Given the description of an element on the screen output the (x, y) to click on. 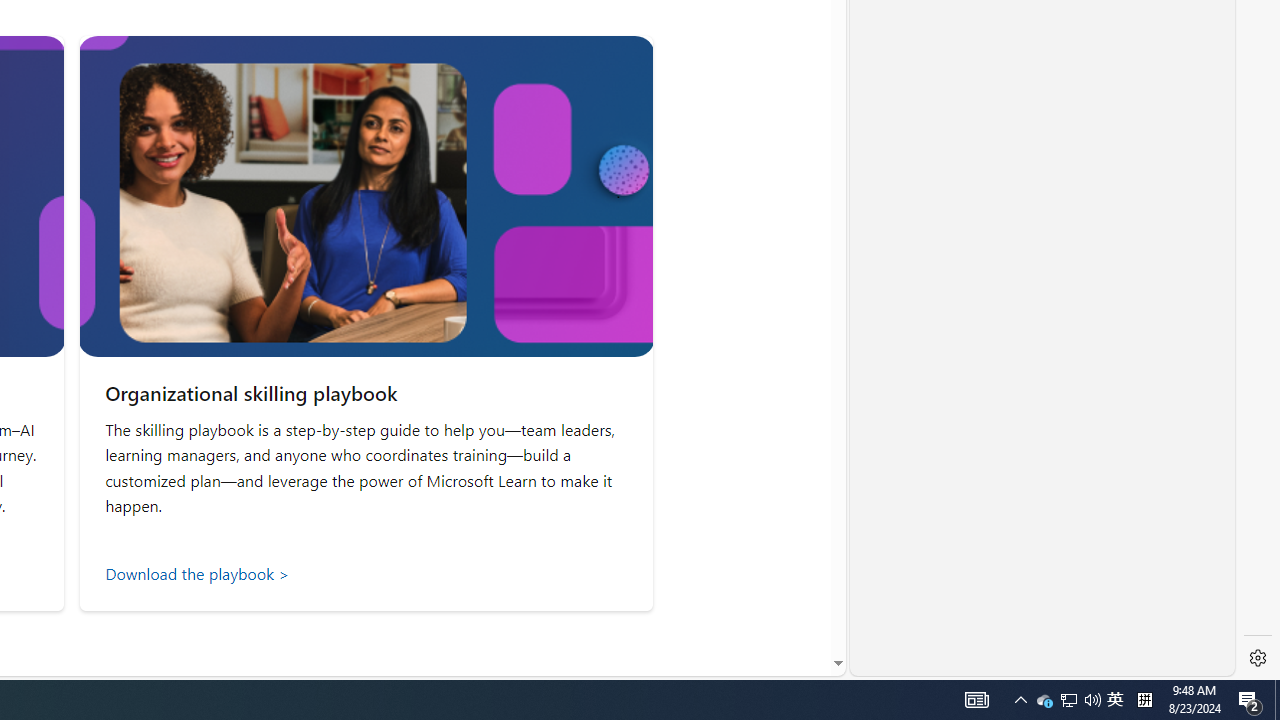
Download the playbook > (366, 573)
